Given the description of an element on the screen output the (x, y) to click on. 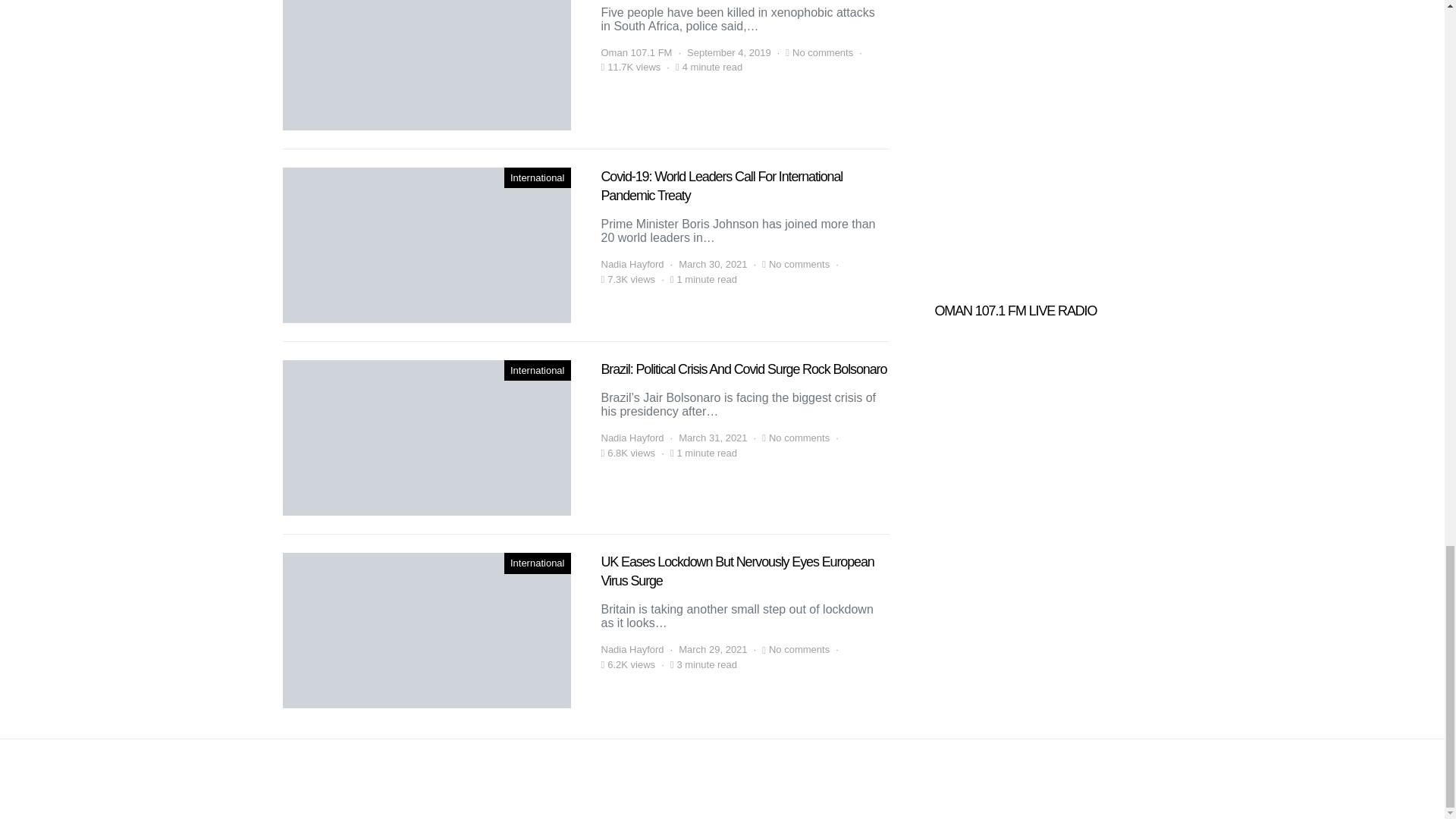
View all posts by Oman 107.1 FM (635, 52)
View all posts by Nadia Hayford (631, 649)
View all posts by Nadia Hayford (631, 437)
View all posts by Nadia Hayford (631, 264)
